Given the description of an element on the screen output the (x, y) to click on. 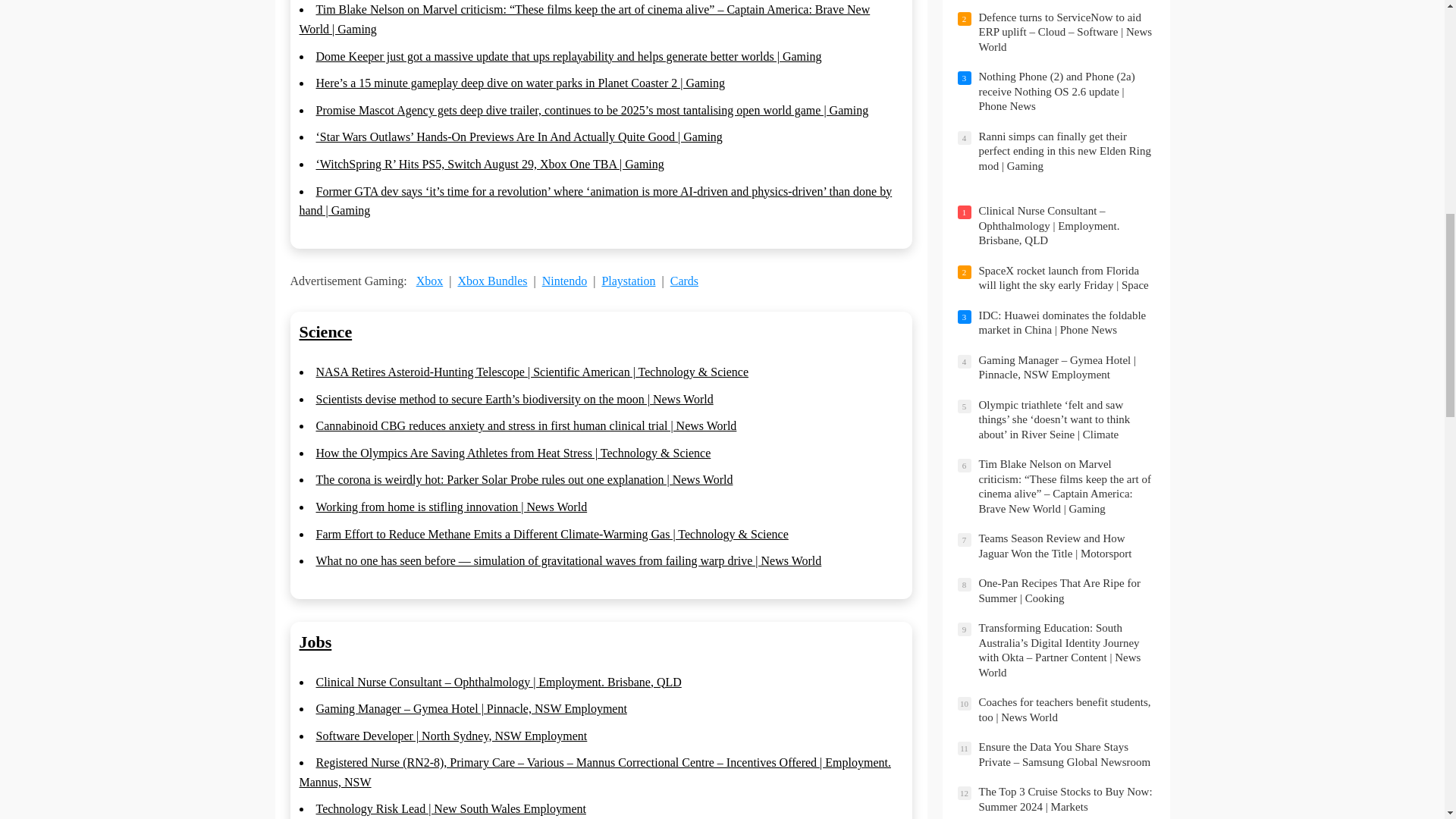
Gaming Xbox (430, 280)
Gaming PlayStation (628, 280)
Xbox Bundles (492, 280)
Gaming Cards and Keys (683, 280)
Gaming Nintendo (564, 280)
